Given the description of an element on the screen output the (x, y) to click on. 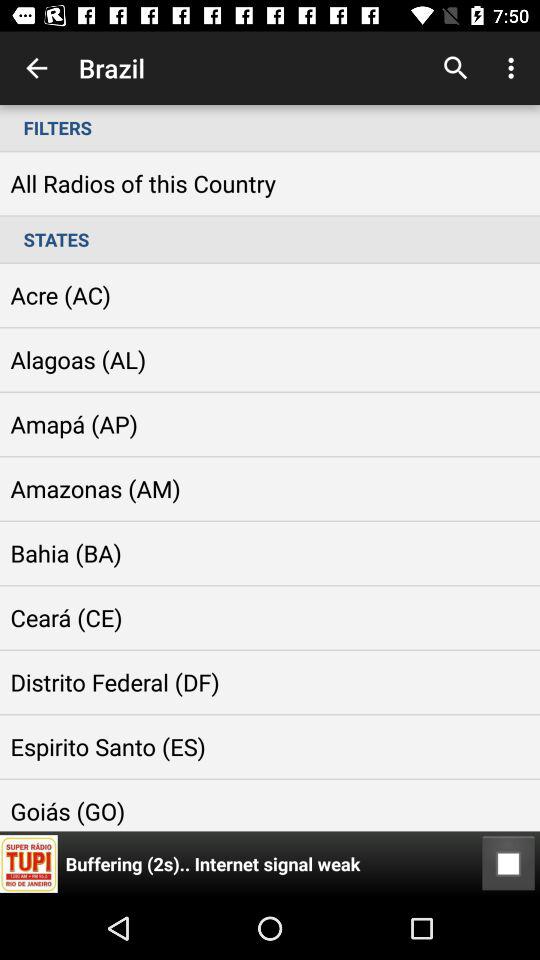
click the icon above the filters icon (455, 67)
